Given the description of an element on the screen output the (x, y) to click on. 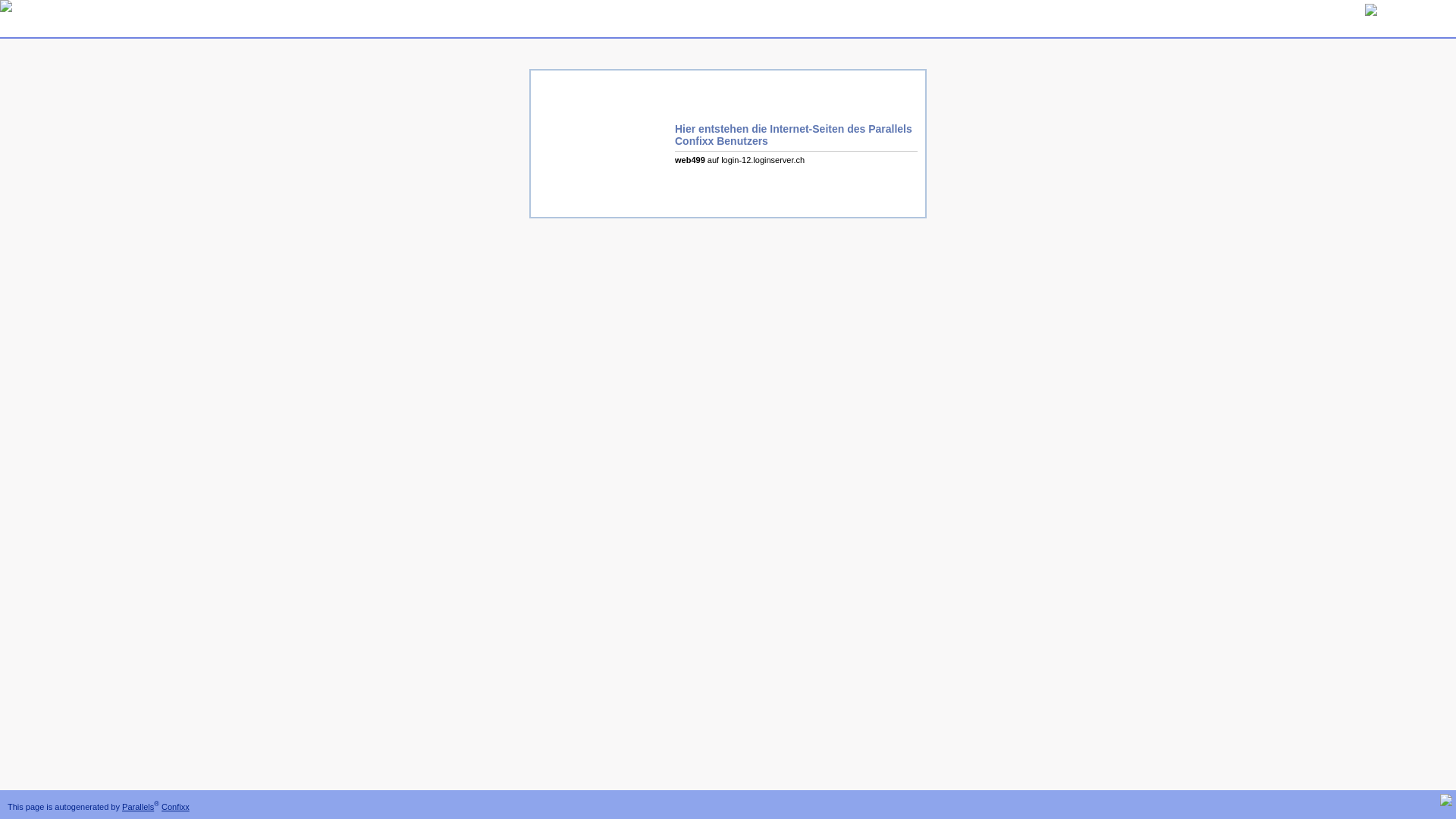
Confixx Element type: text (175, 806)
Parallels Element type: text (137, 806)
